Given the description of an element on the screen output the (x, y) to click on. 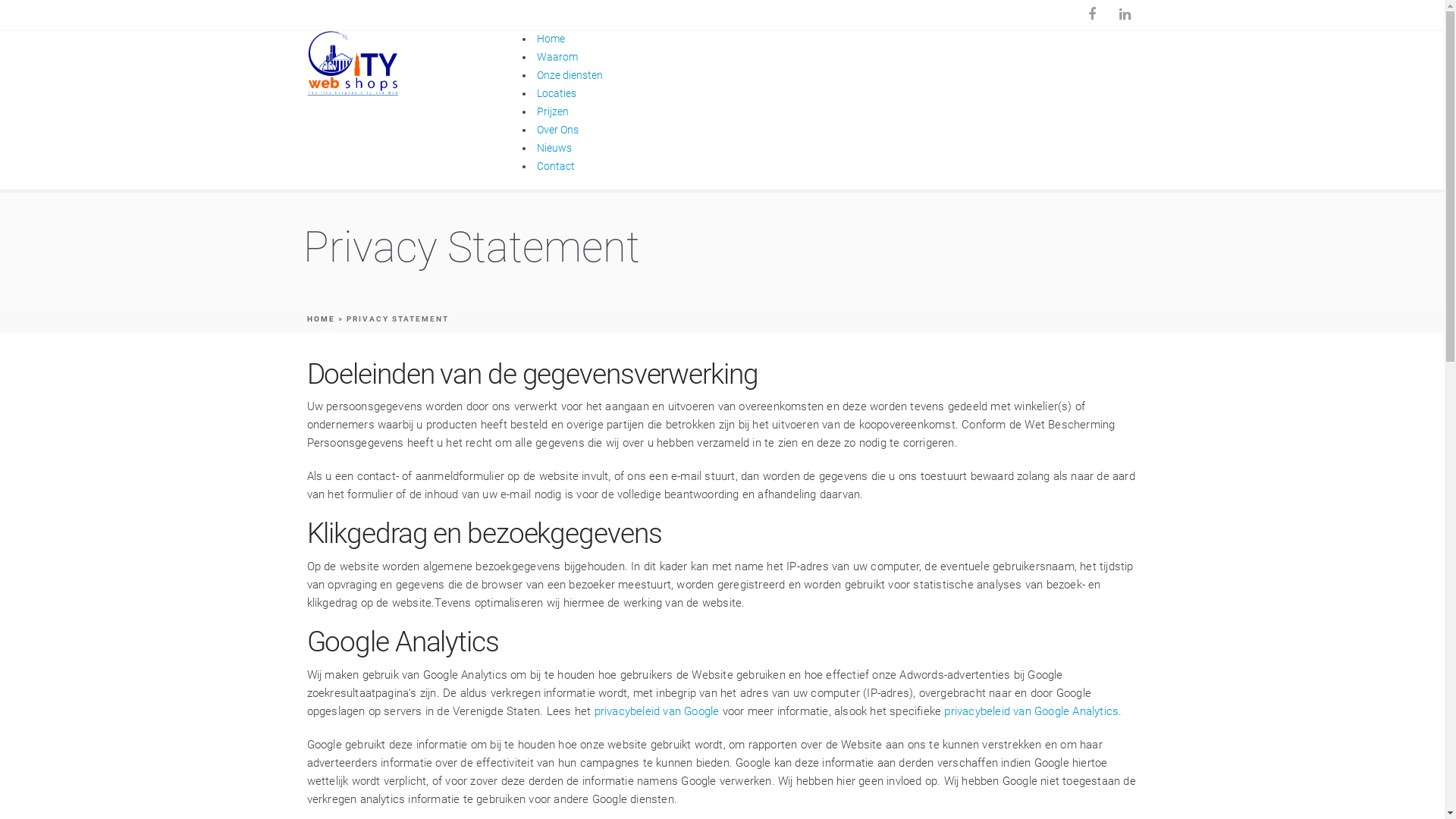
Over Ons Element type: text (557, 129)
Nieuws Element type: text (553, 147)
HOME Element type: text (320, 318)
Contact Element type: text (555, 166)
Waarom Element type: text (556, 56)
privacybeleid van Google Analytics Element type: text (1031, 711)
privacybeleid van Google Element type: text (656, 711)
Prijzen Element type: text (552, 111)
Onze diensten Element type: text (569, 75)
Home Element type: text (550, 38)
Locaties Element type: text (556, 93)
